Given the description of an element on the screen output the (x, y) to click on. 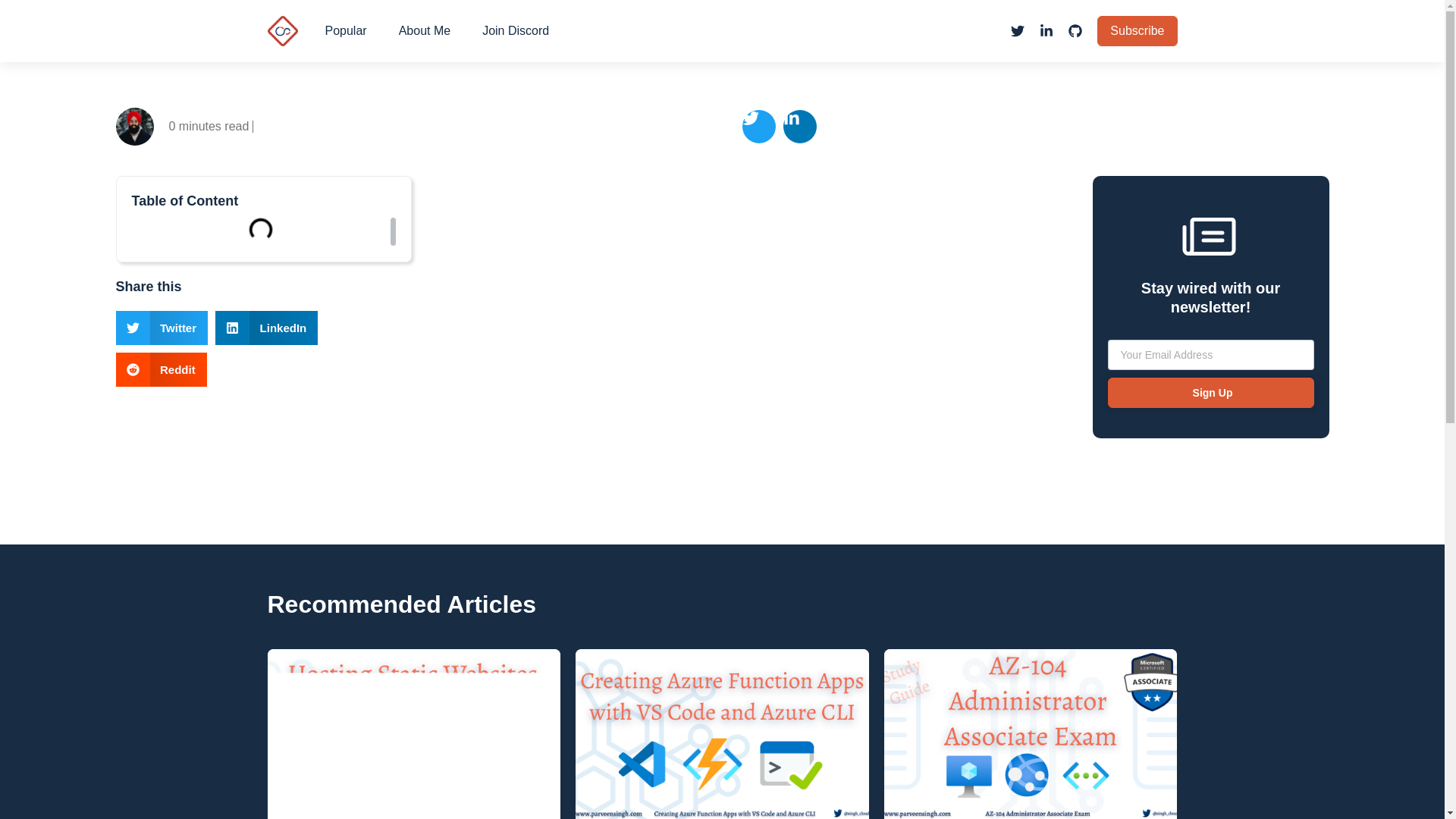
Subscribe (1136, 30)
Sign Up (1209, 392)
Popular (345, 30)
Join Discord (515, 30)
About Me (425, 30)
